Given the description of an element on the screen output the (x, y) to click on. 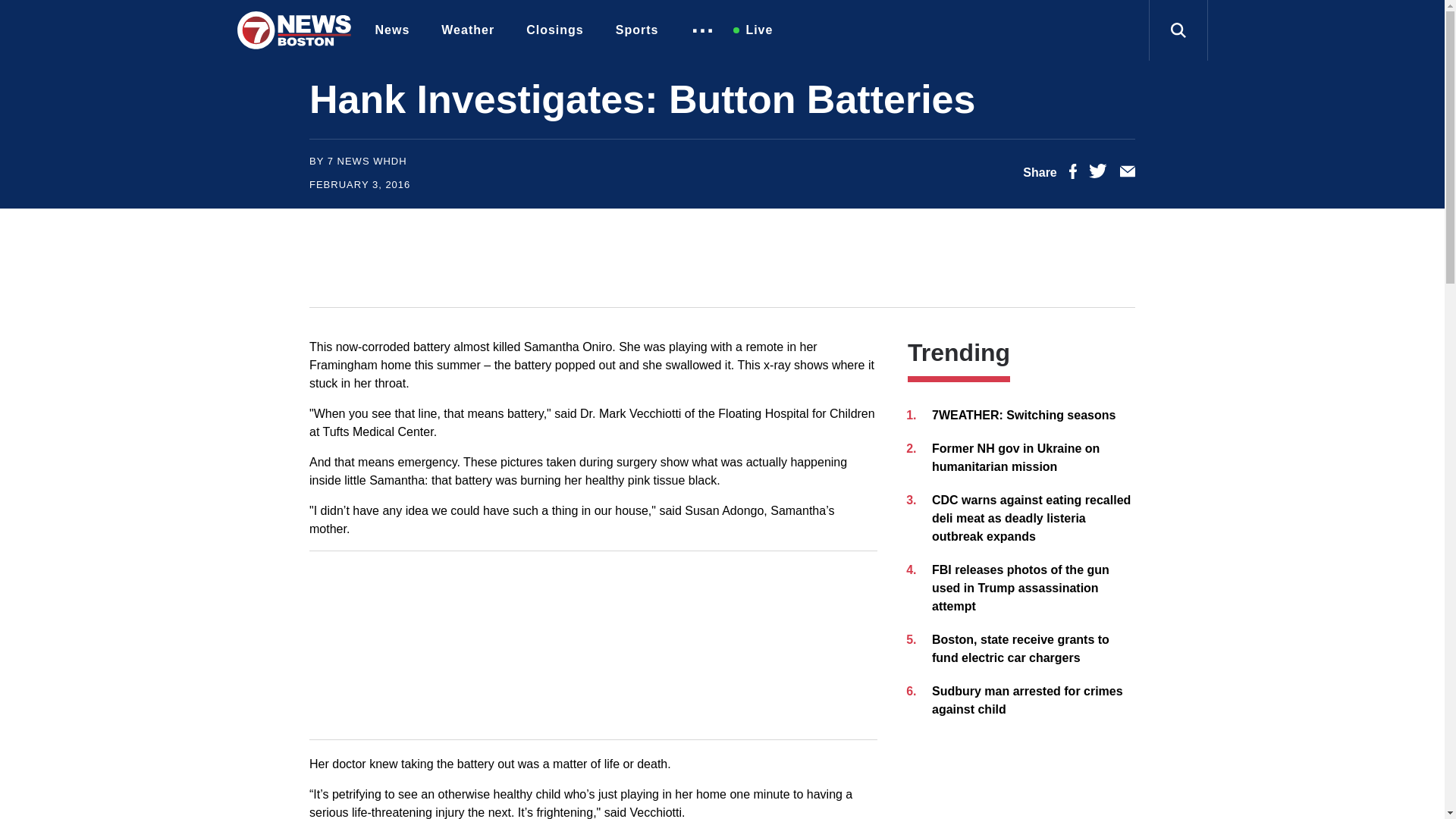
Closings (558, 30)
Twitter (1098, 174)
Sports (641, 30)
Posts by 7 News WHDH (367, 161)
February 3, 2016 (359, 184)
Weather (471, 30)
News (395, 30)
Email (1127, 174)
